Given the description of an element on the screen output the (x, y) to click on. 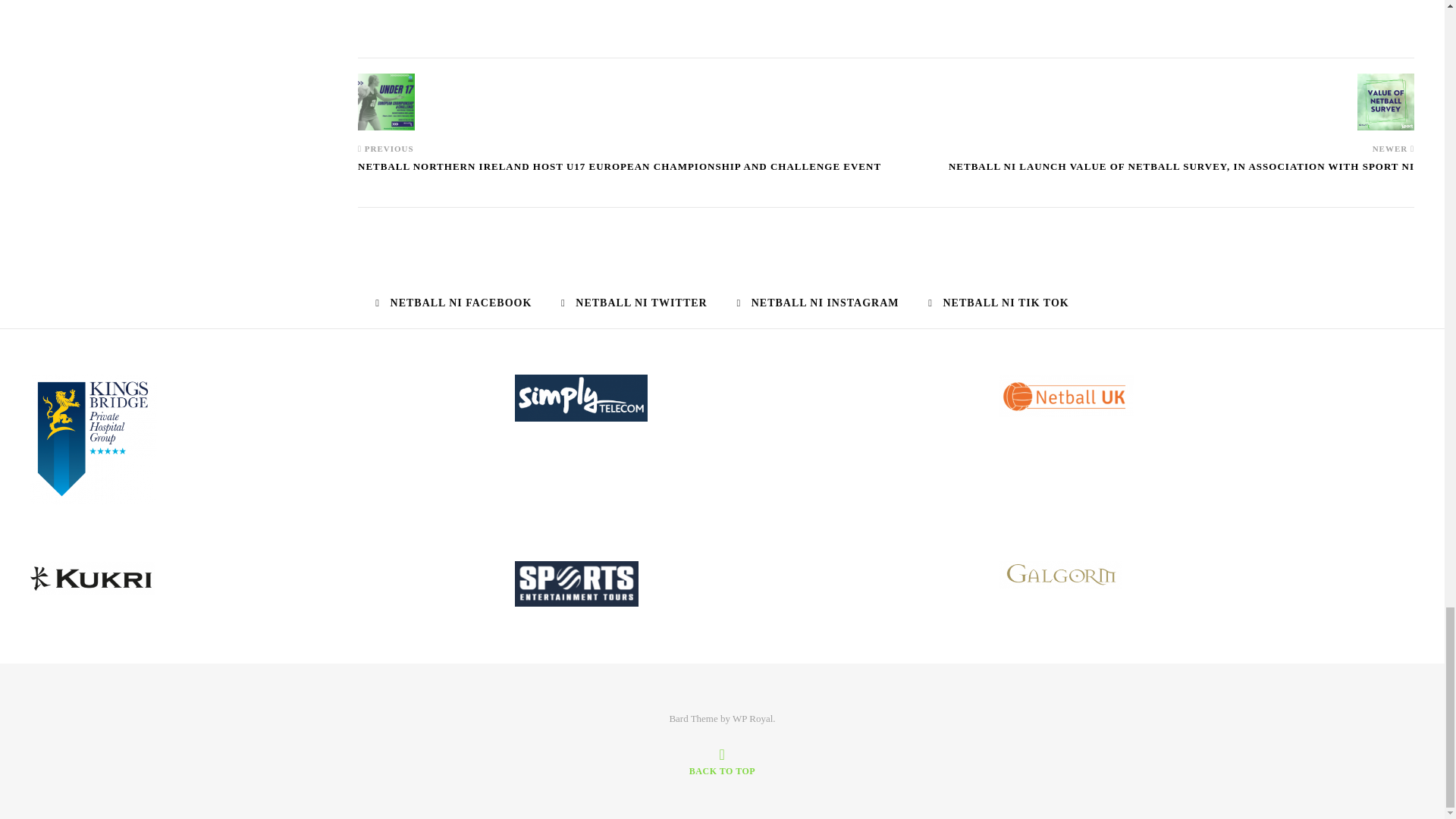
BACK TO TOP (721, 761)
